Given the description of an element on the screen output the (x, y) to click on. 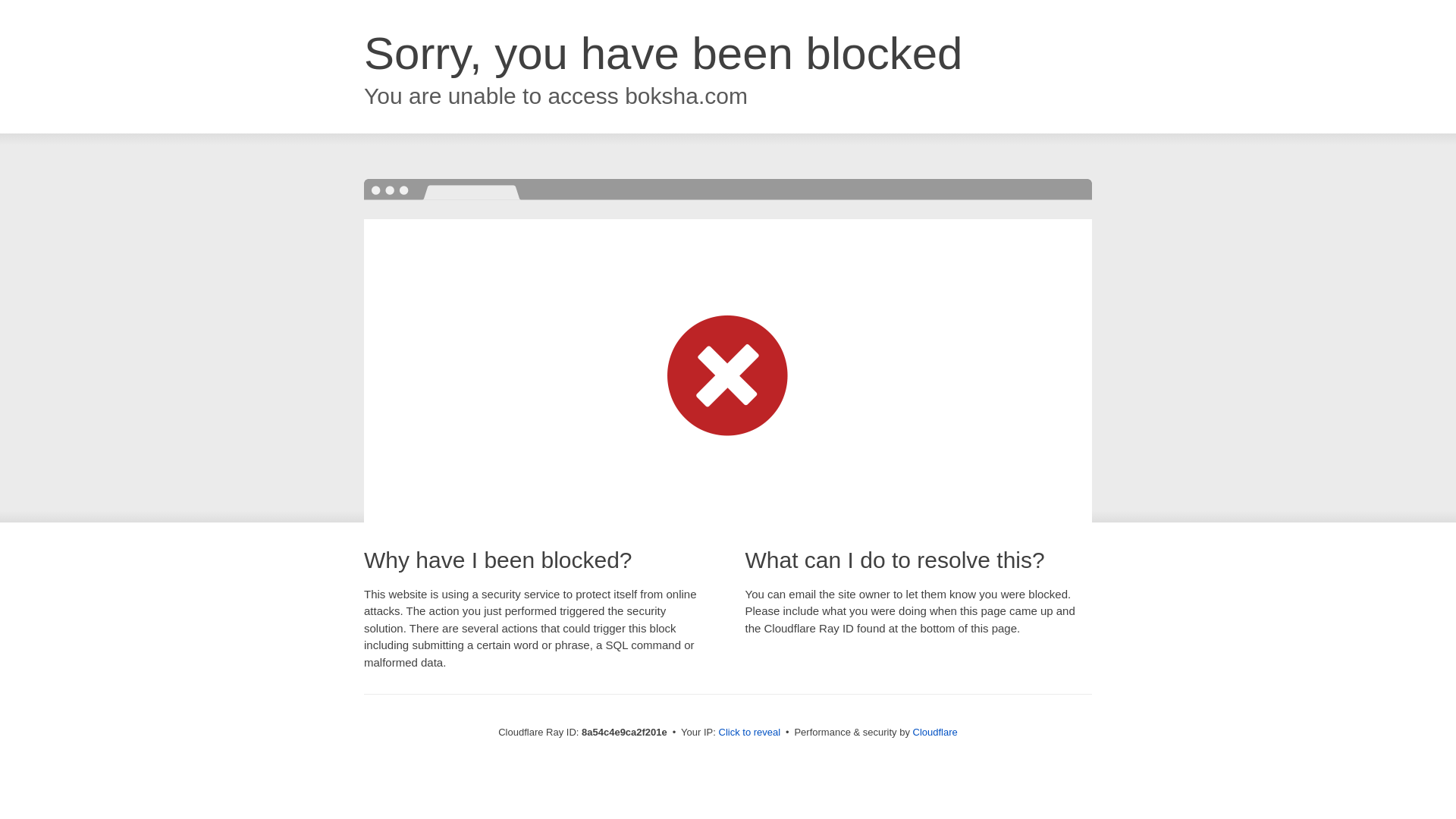
Click to reveal (749, 732)
Cloudflare (935, 731)
